Given the description of an element on the screen output the (x, y) to click on. 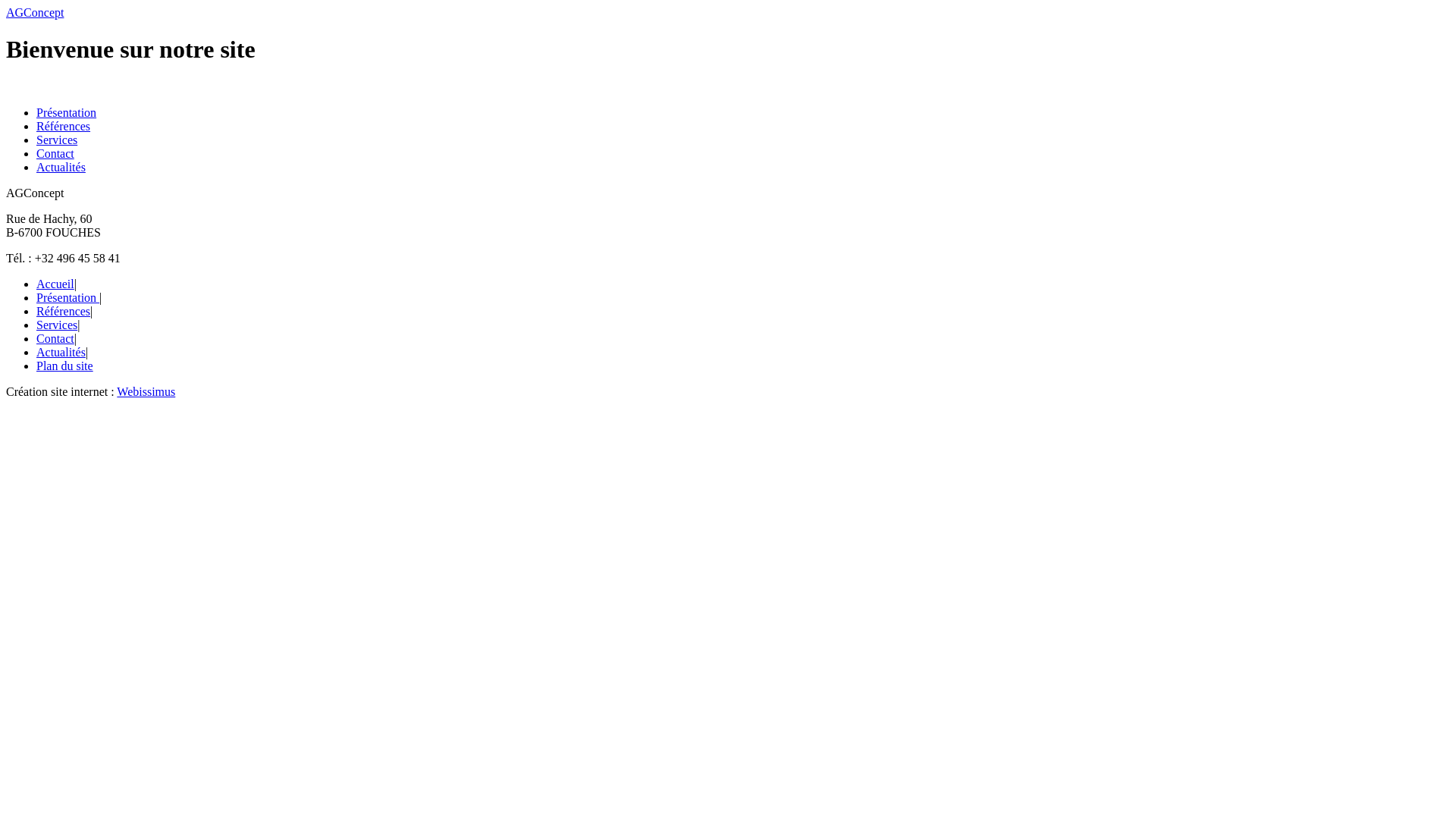
AGConcept Element type: text (34, 12)
Contact Element type: text (55, 338)
Services Element type: text (56, 139)
Services Element type: text (56, 324)
Plan du site Element type: text (64, 365)
Webissimus Element type: text (145, 391)
Accueil Element type: text (55, 283)
Contact Element type: text (55, 153)
